Given the description of an element on the screen output the (x, y) to click on. 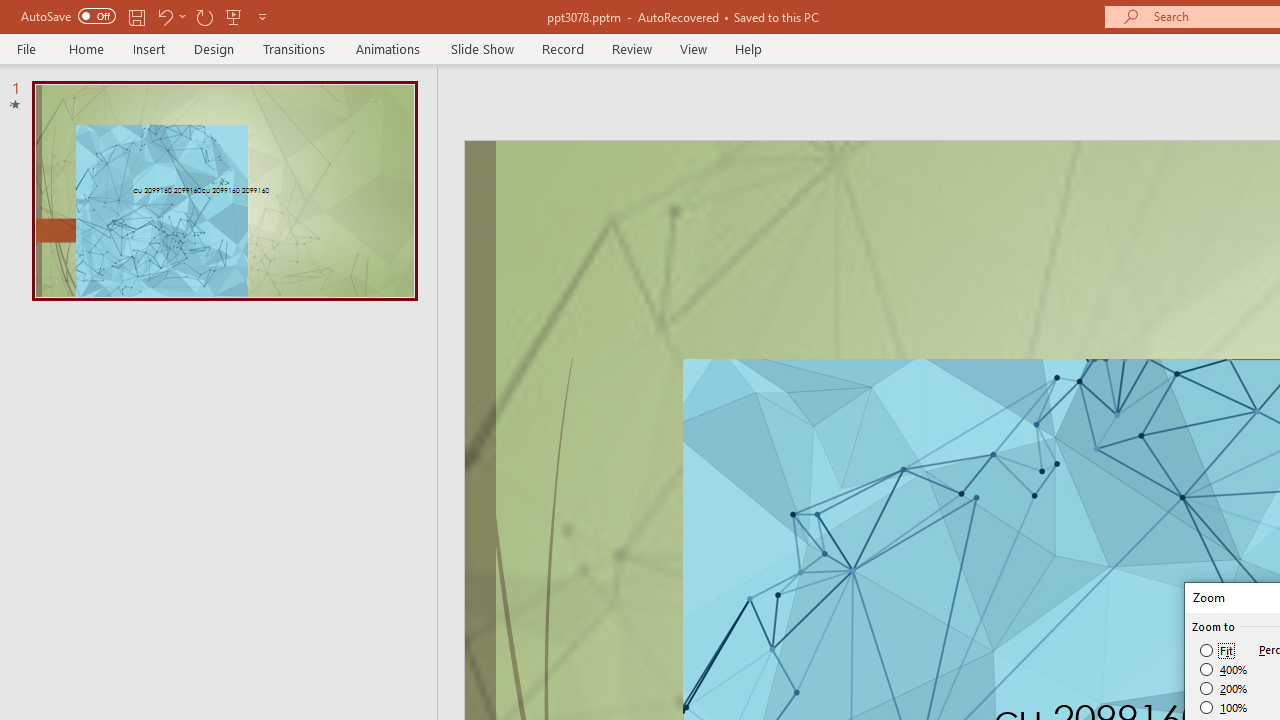
Fit (1217, 650)
